Given the description of an element on the screen output the (x, y) to click on. 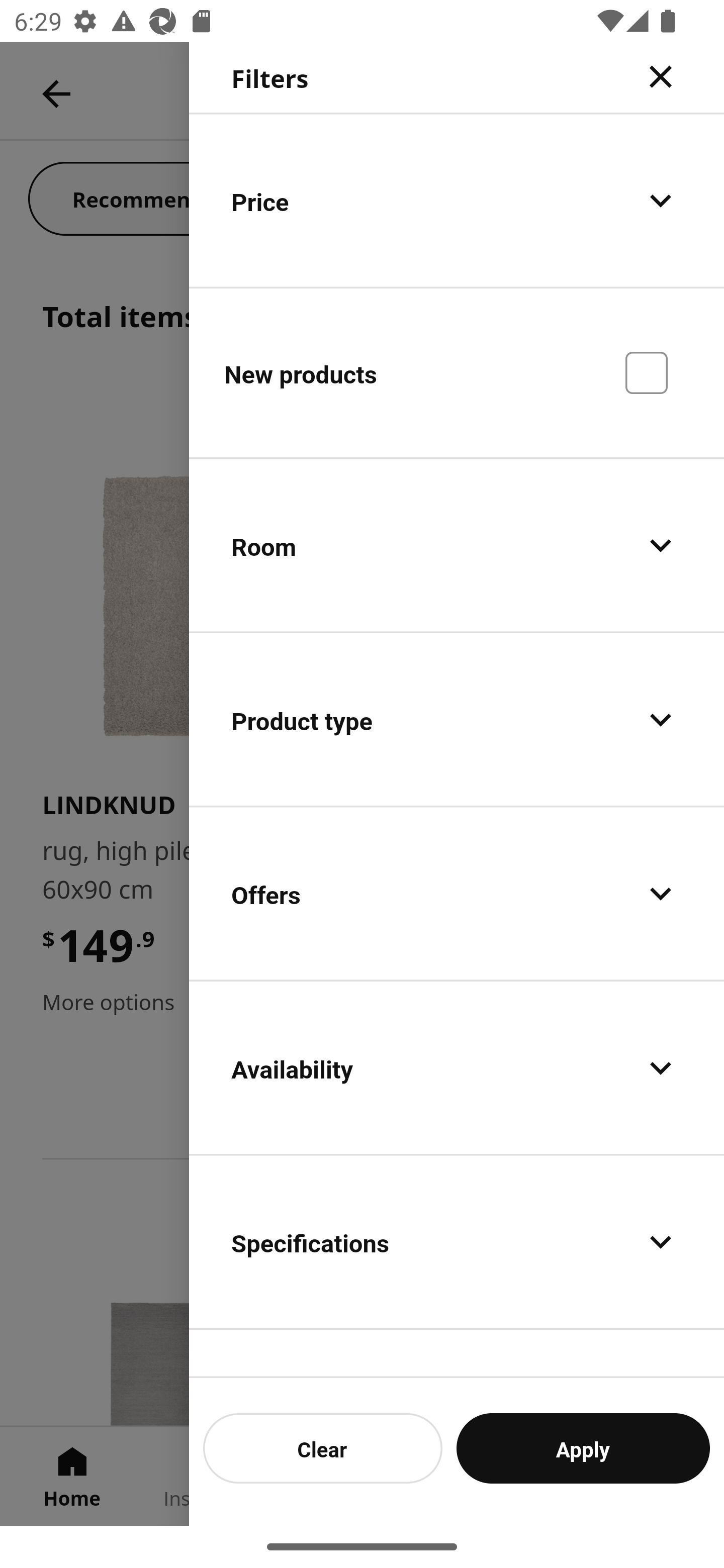
Price (456, 200)
New products (456, 371)
Room (456, 545)
Product type (456, 719)
Offers (456, 893)
Availability (456, 1067)
Specifications (456, 1241)
Clear (322, 1447)
Apply (583, 1447)
